Given the description of an element on the screen output the (x, y) to click on. 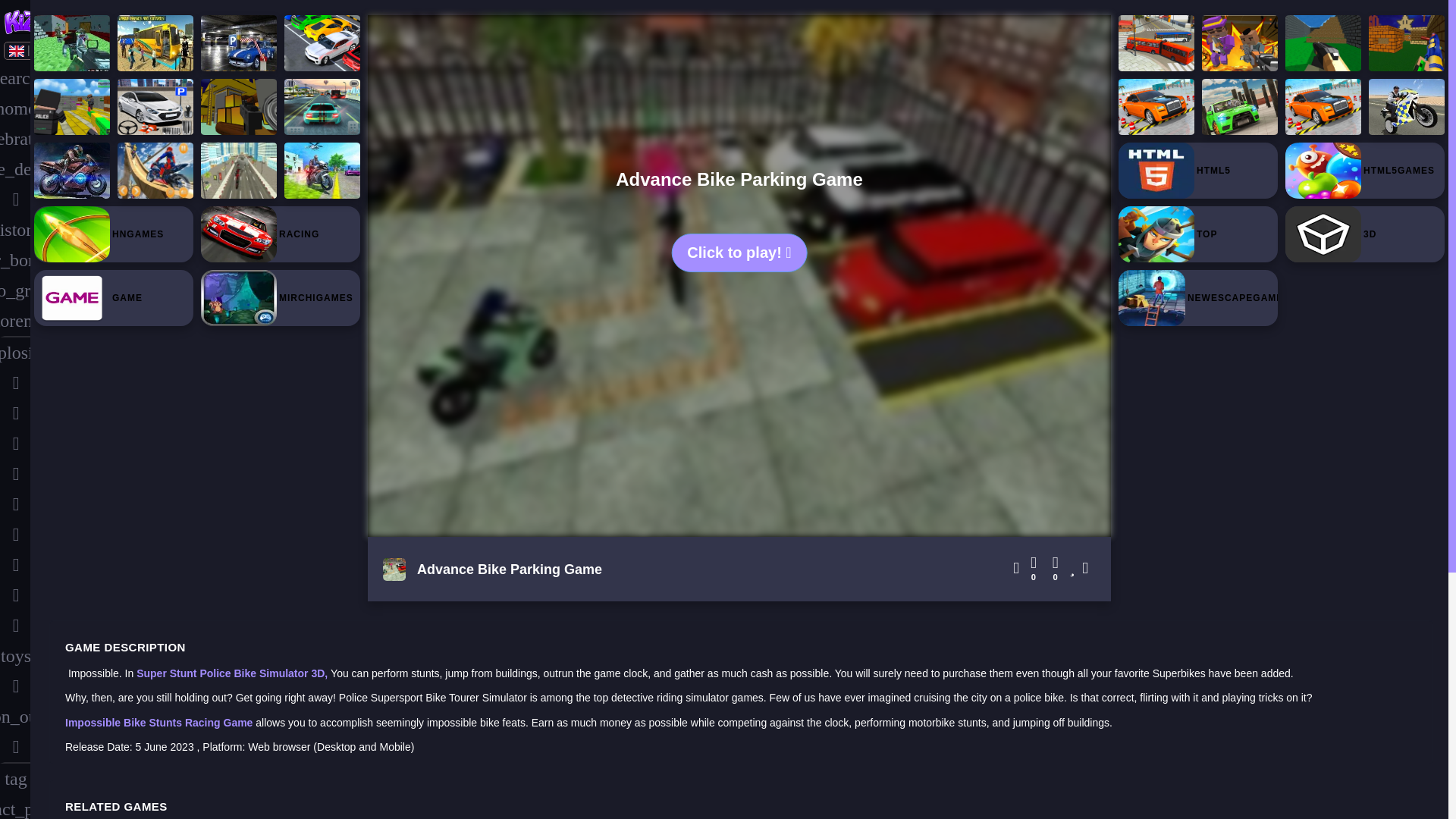
search (15, 78)
home (15, 108)
history (15, 229)
autorenew (15, 321)
celebration (15, 138)
explosion (15, 352)
tag (15, 778)
toys (15, 655)
